Given the description of an element on the screen output the (x, y) to click on. 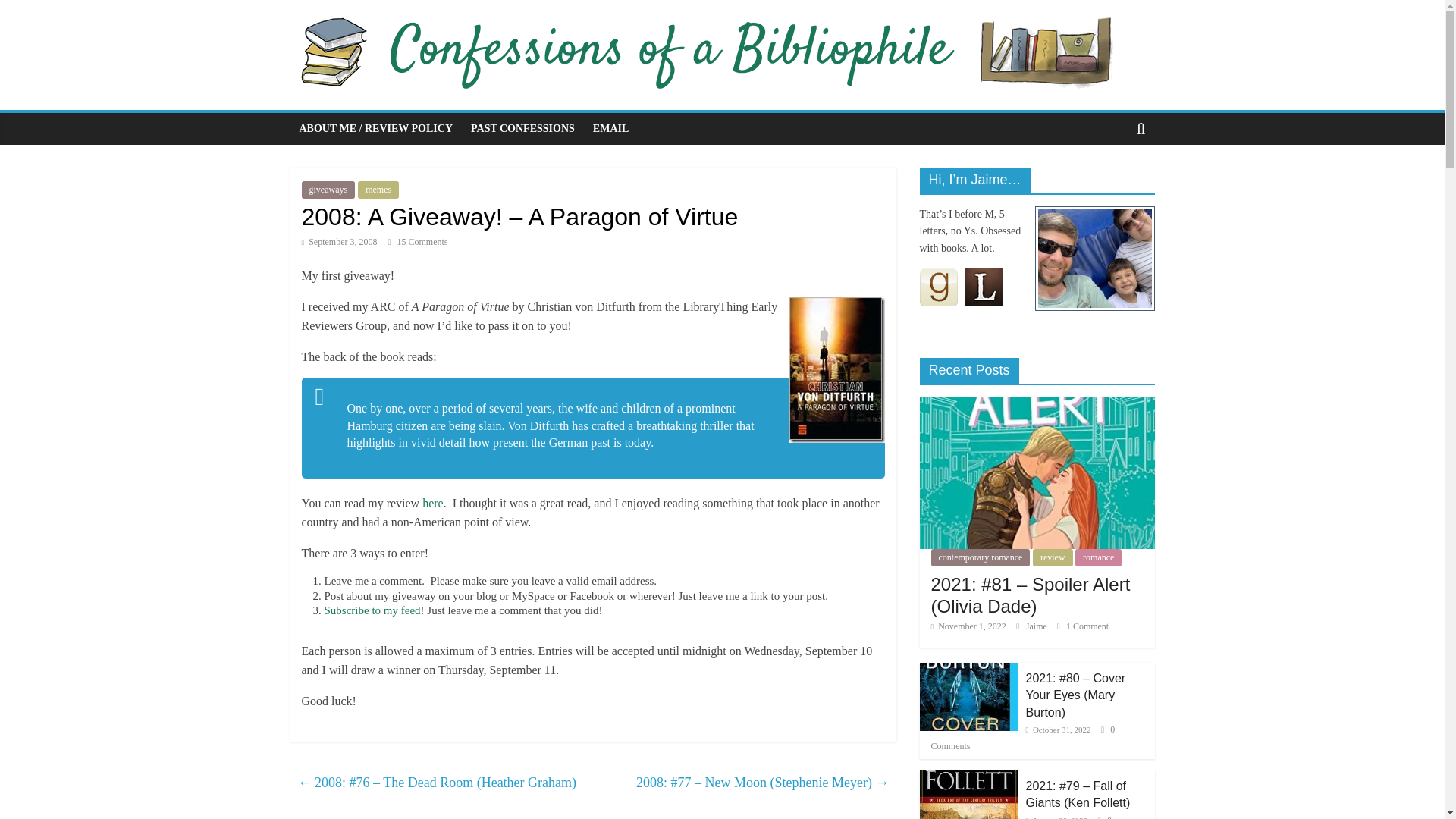
EMAIL (610, 128)
Subscribe to my feed (372, 610)
memes (378, 189)
7:28 pm (339, 241)
September 3, 2008 (339, 241)
Jaime (1037, 625)
giveaways (328, 189)
15 Comments (416, 241)
PAST CONFESSIONS (522, 128)
here (433, 502)
